Given the description of an element on the screen output the (x, y) to click on. 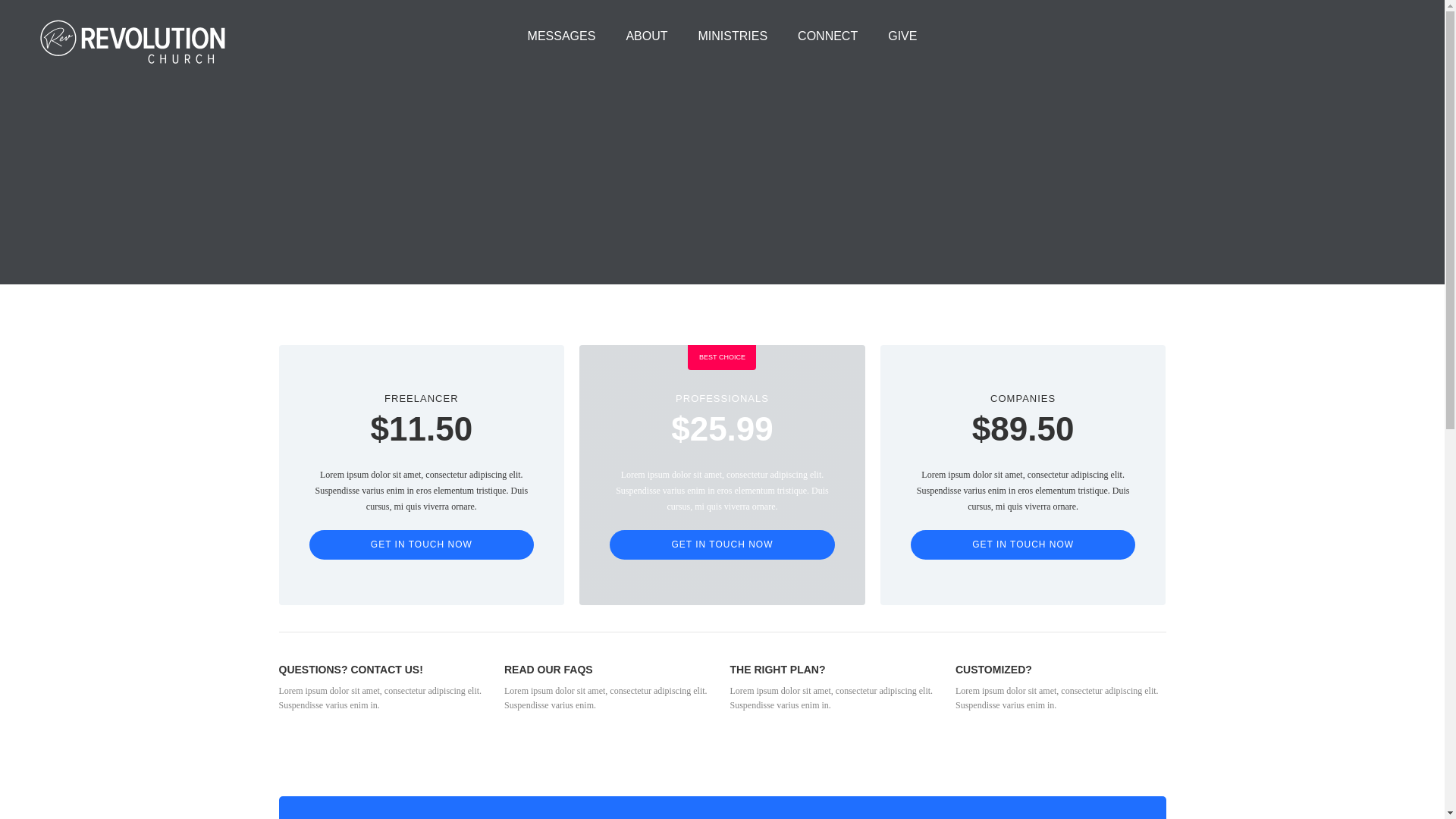
CONNECT Element type: text (827, 36)
Get the right plan for you Element type: text (1001, 734)
MESSAGES Element type: text (561, 36)
GET IN TOUCH NOW Element type: text (721, 544)
Read FAQs Element type: text (525, 734)
Contact us now Element type: text (307, 734)
MINISTRIES Element type: text (732, 36)
Contact us now Element type: text (757, 734)
ABOUT Element type: text (646, 36)
GET IN TOUCH NOW Element type: text (421, 544)
GIVE Element type: text (902, 36)
GET IN TOUCH NOW Element type: text (1022, 544)
